Given the description of an element on the screen output the (x, y) to click on. 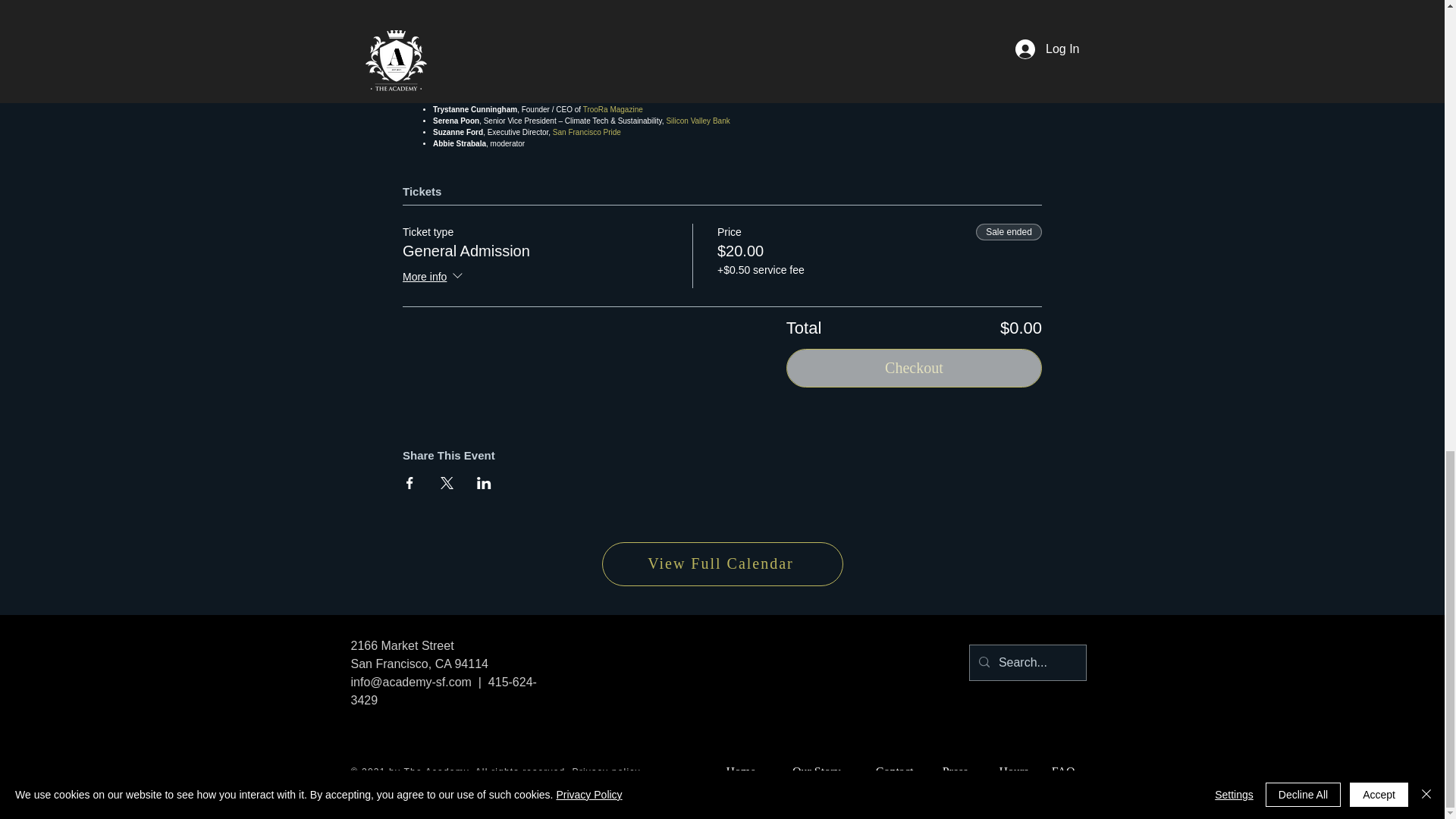
TrooRa Magazine (613, 109)
